Given the description of an element on the screen output the (x, y) to click on. 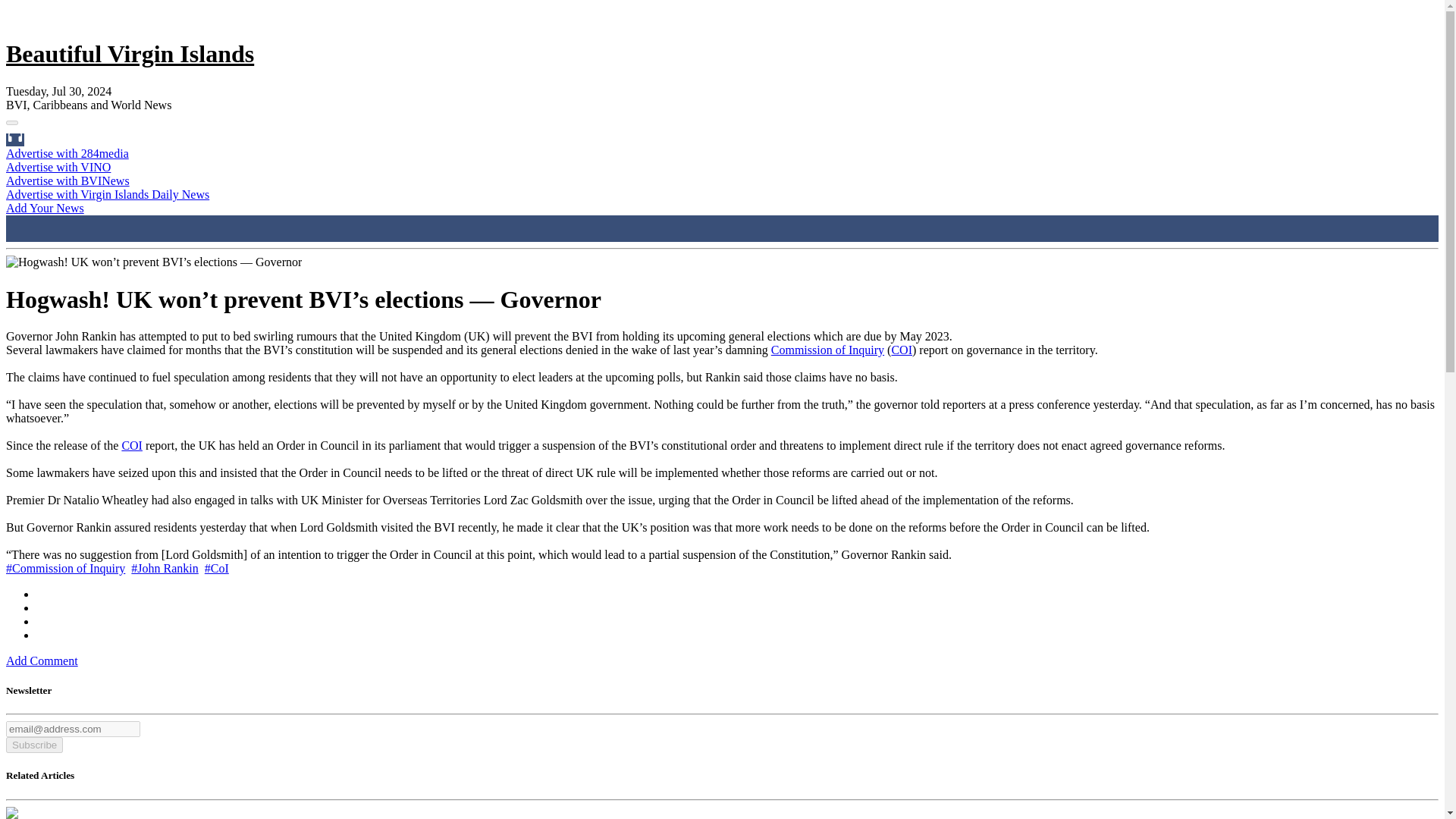
Add Comment (41, 660)
Add Your News (44, 207)
Commission of Inquiry (827, 349)
Advertise with 284media (67, 153)
Advertise with VINO (57, 166)
Team GB Wins First Gold at Paris 2024 in Olympic Eventing (11, 813)
Beautiful Virgin Islands (129, 53)
Advertise with Virgin Islands Daily News (107, 194)
COI (131, 445)
Subscribe (33, 744)
COI (901, 349)
Advertise with BVINews (67, 180)
